Given the description of an element on the screen output the (x, y) to click on. 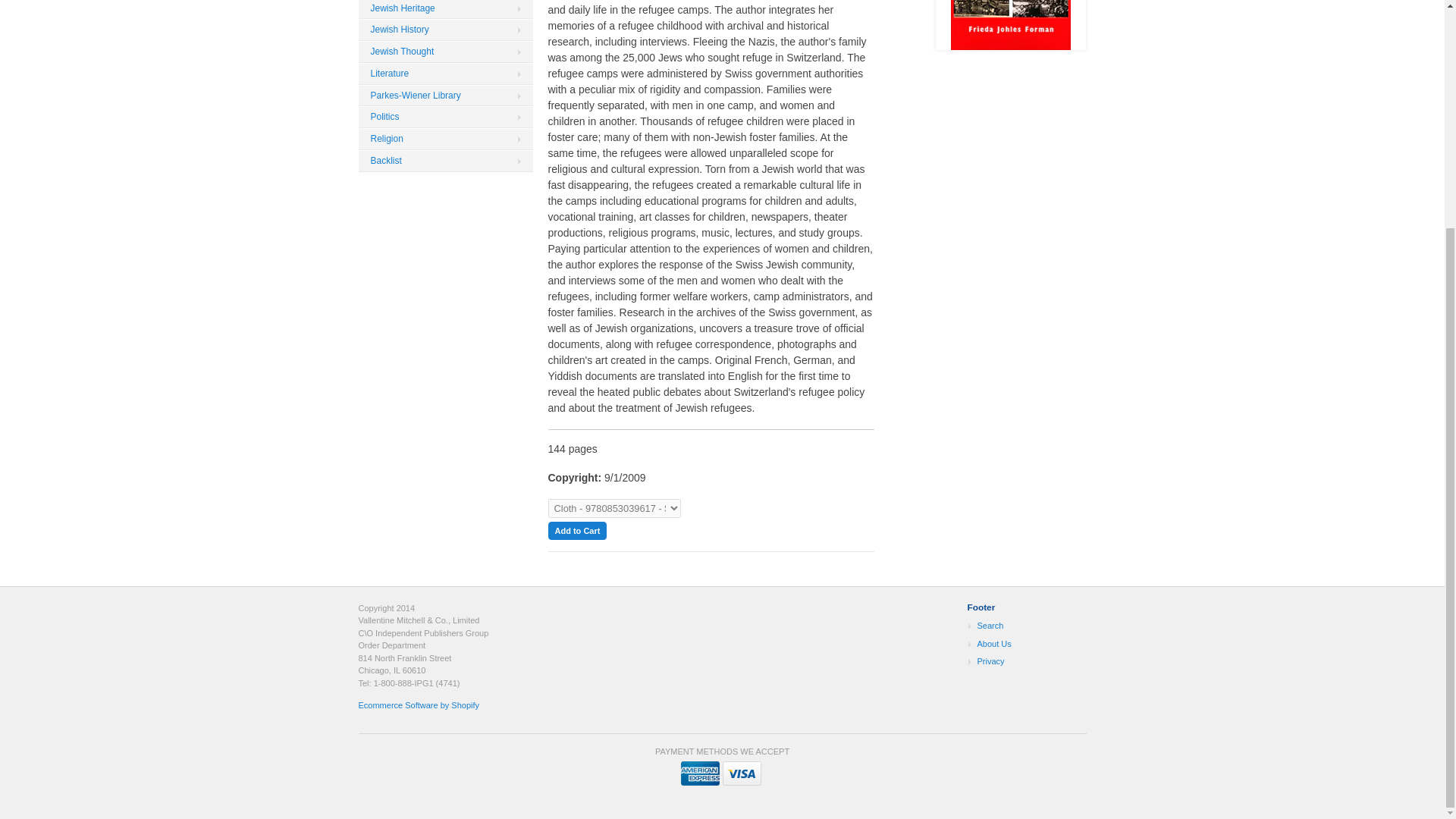
Add to Cart (577, 530)
Privacy (1018, 661)
Literature (445, 74)
Add to Cart (577, 530)
Backlist (445, 160)
Parkes-Wiener Library (445, 96)
About Us (1018, 644)
Religion (445, 138)
Jewish History (445, 29)
Jewish History (445, 29)
Ecommerce Software by Shopify (418, 705)
Politics (445, 116)
Jewish Heritage (445, 9)
Politics (445, 116)
Jewish Thought (445, 51)
